Given the description of an element on the screen output the (x, y) to click on. 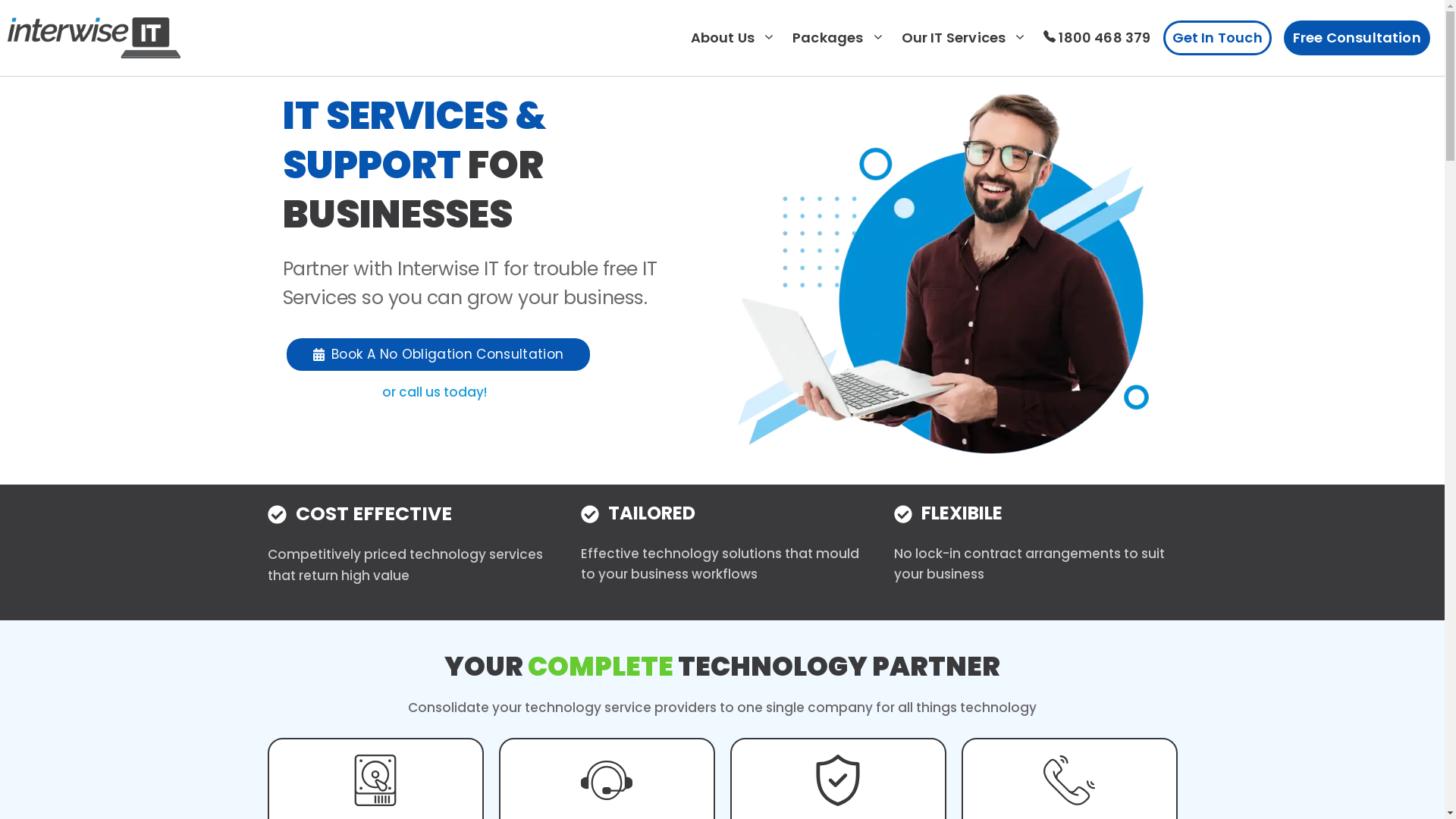
About Us Element type: text (733, 37)
Free Consultation Element type: text (1356, 37)
or call us today! Element type: text (434, 391)
Get In Touch Element type: text (1217, 37)
1800 468 379 Element type: text (1097, 37)
Our IT Services Element type: text (964, 37)
Packages Element type: text (838, 37)
Book A No Obligation Consultation Element type: text (437, 354)
